Given the description of an element on the screen output the (x, y) to click on. 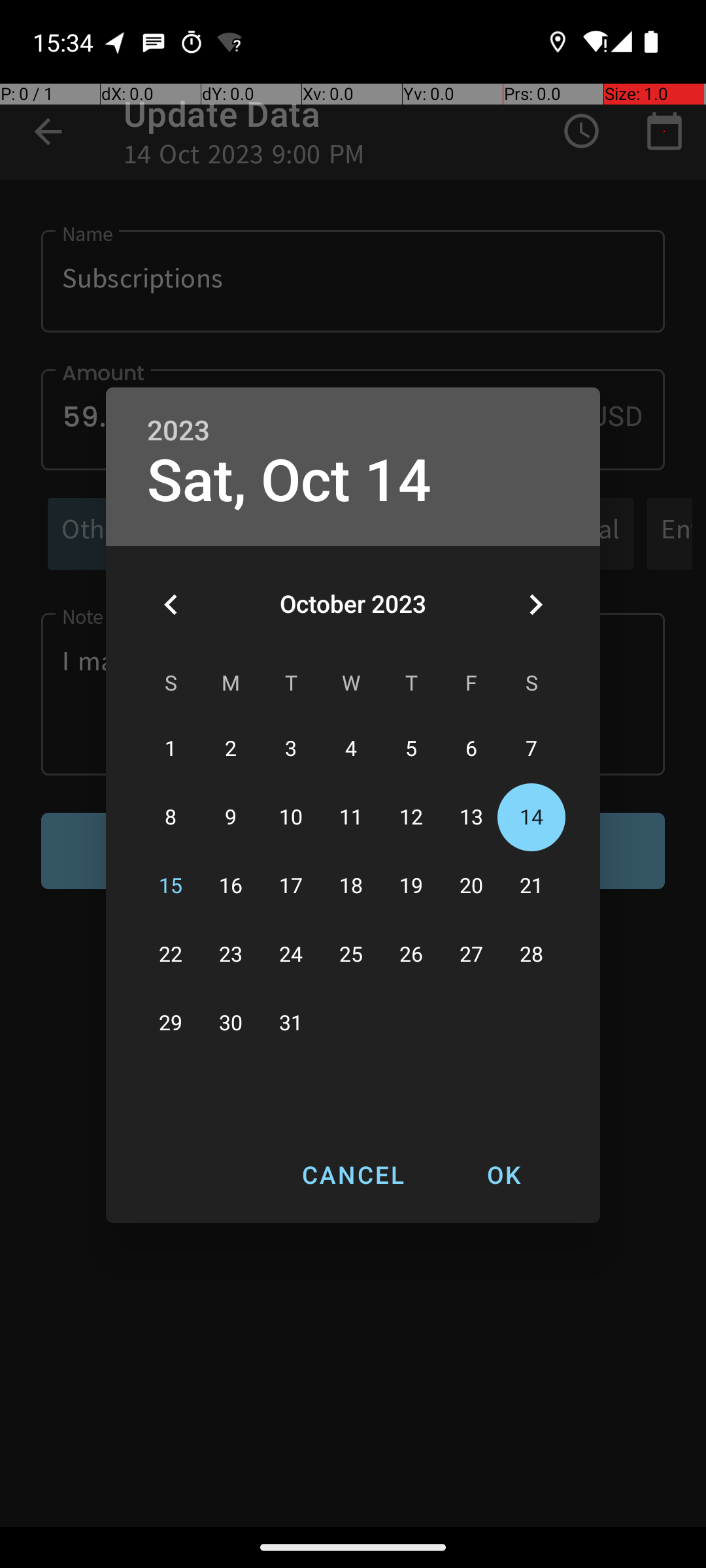
Sat, Oct 14 Element type: android.widget.TextView (289, 480)
